Given the description of an element on the screen output the (x, y) to click on. 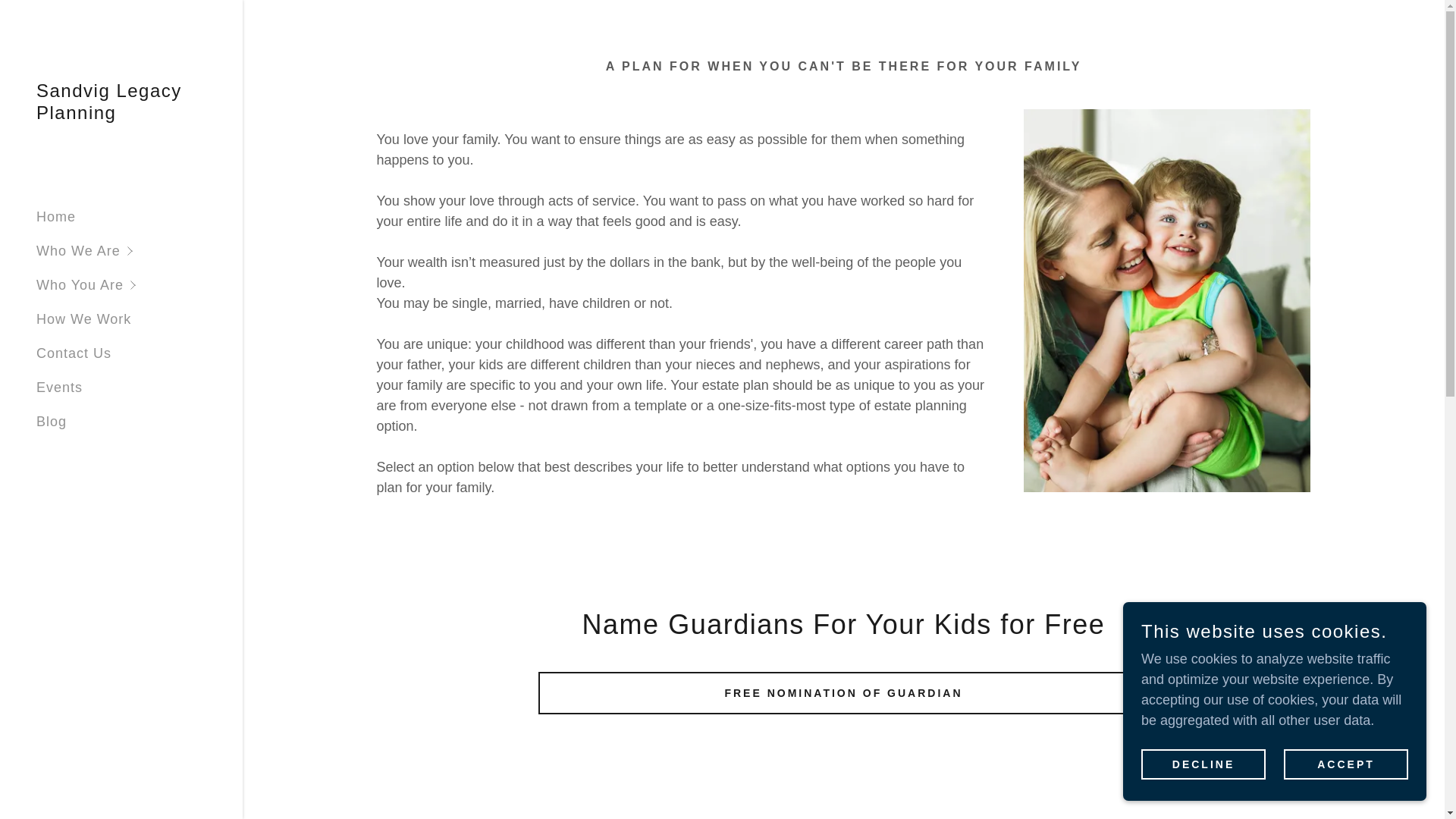
DECLINE (1203, 764)
Who We Are (139, 251)
Home (55, 216)
Sandvig Legacy Planning (121, 114)
Events (59, 387)
How We Work (83, 319)
Sandvig Legacy Planning (121, 114)
FREE NOMINATION OF GUARDIAN (843, 692)
Who You Are (139, 285)
Blog (51, 421)
